Given the description of an element on the screen output the (x, y) to click on. 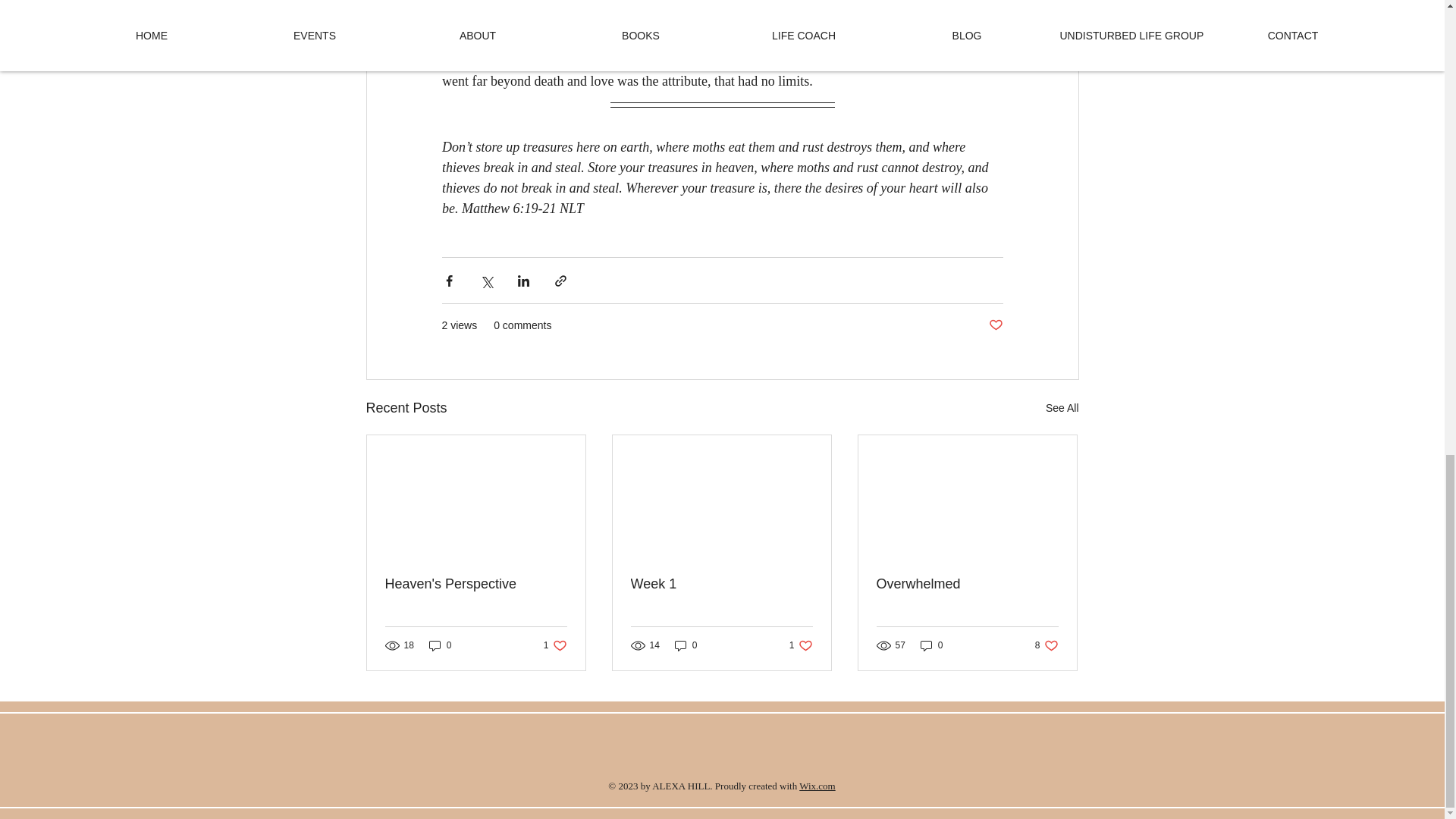
Overwhelmed (967, 584)
0 (931, 644)
Post not marked as liked (995, 325)
See All (1061, 408)
Heaven's Perspective (476, 584)
0 (1046, 644)
Week 1 (685, 644)
Wix.com (721, 584)
0 (817, 785)
